Given the description of an element on the screen output the (x, y) to click on. 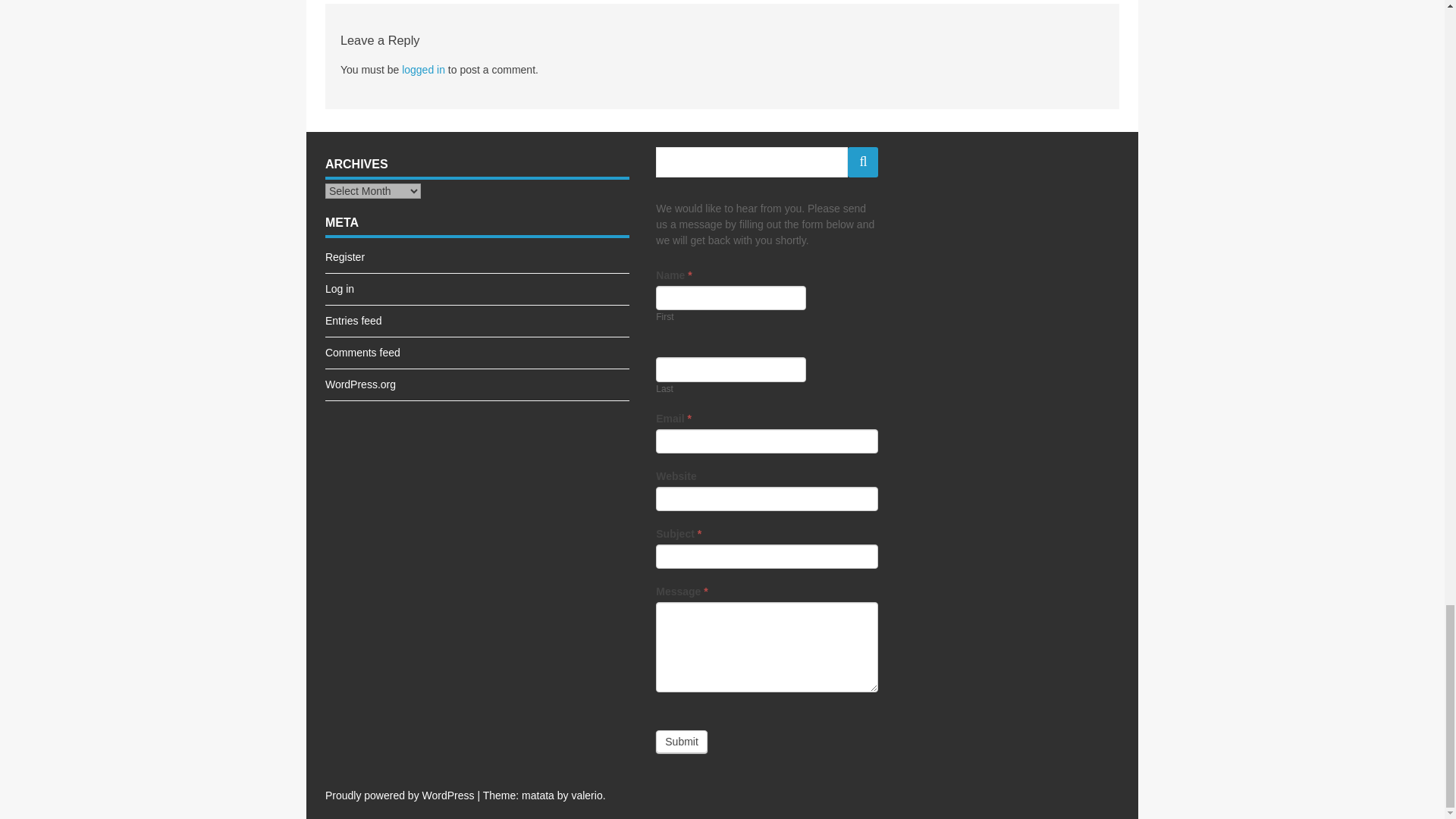
logged in (423, 69)
Log in (338, 288)
Comments feed (362, 352)
Entries feed (352, 320)
Register (344, 256)
Submit (681, 741)
